Given the description of an element on the screen output the (x, y) to click on. 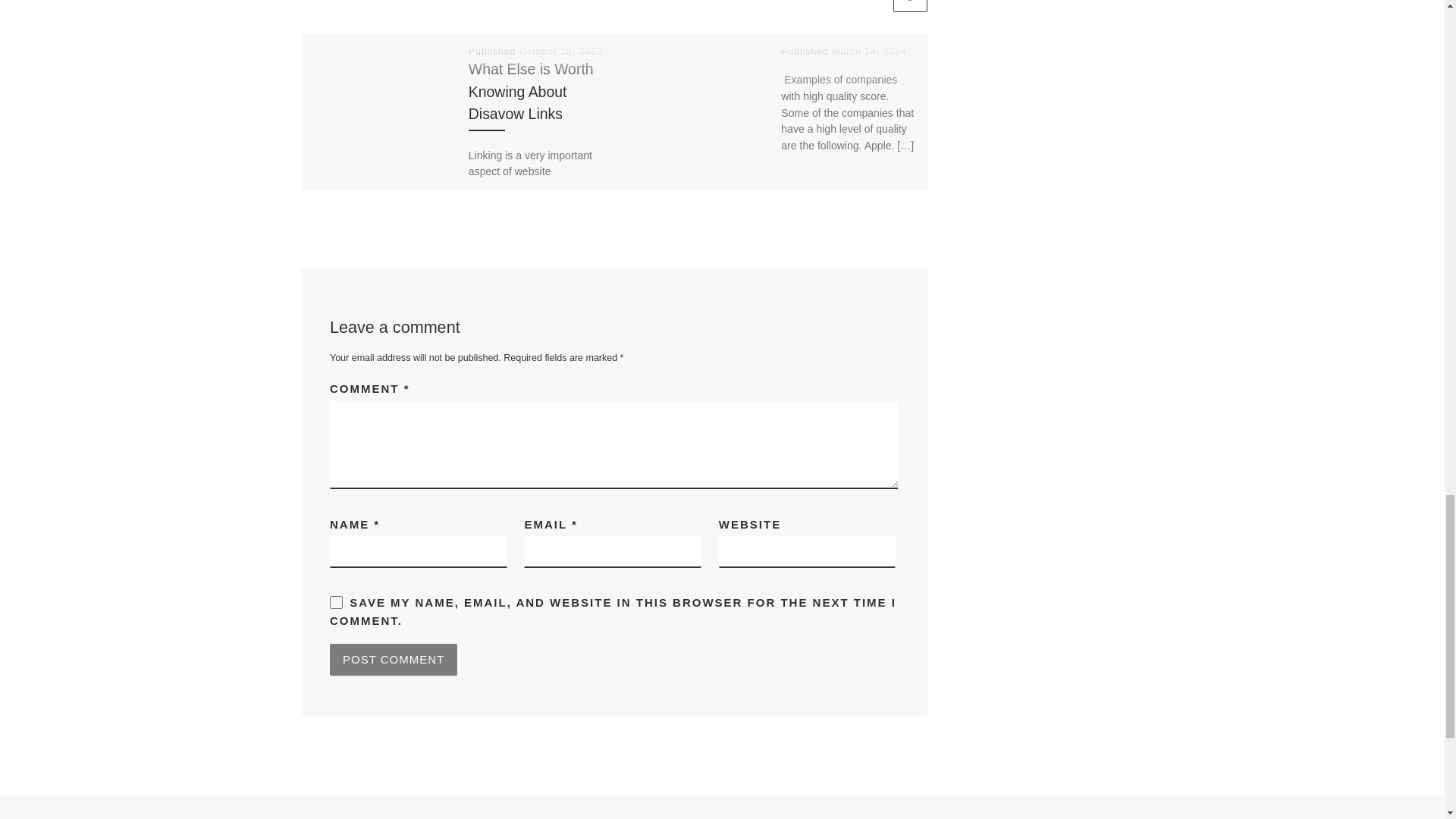
Post Comment (393, 659)
Next related articles (910, 6)
October 18, 2023 (560, 50)
Previous related articles (872, 6)
What Else is Worth Knowing About Disavow Links (531, 90)
yes (336, 602)
March 24, 2024 (869, 50)
